Given the description of an element on the screen output the (x, y) to click on. 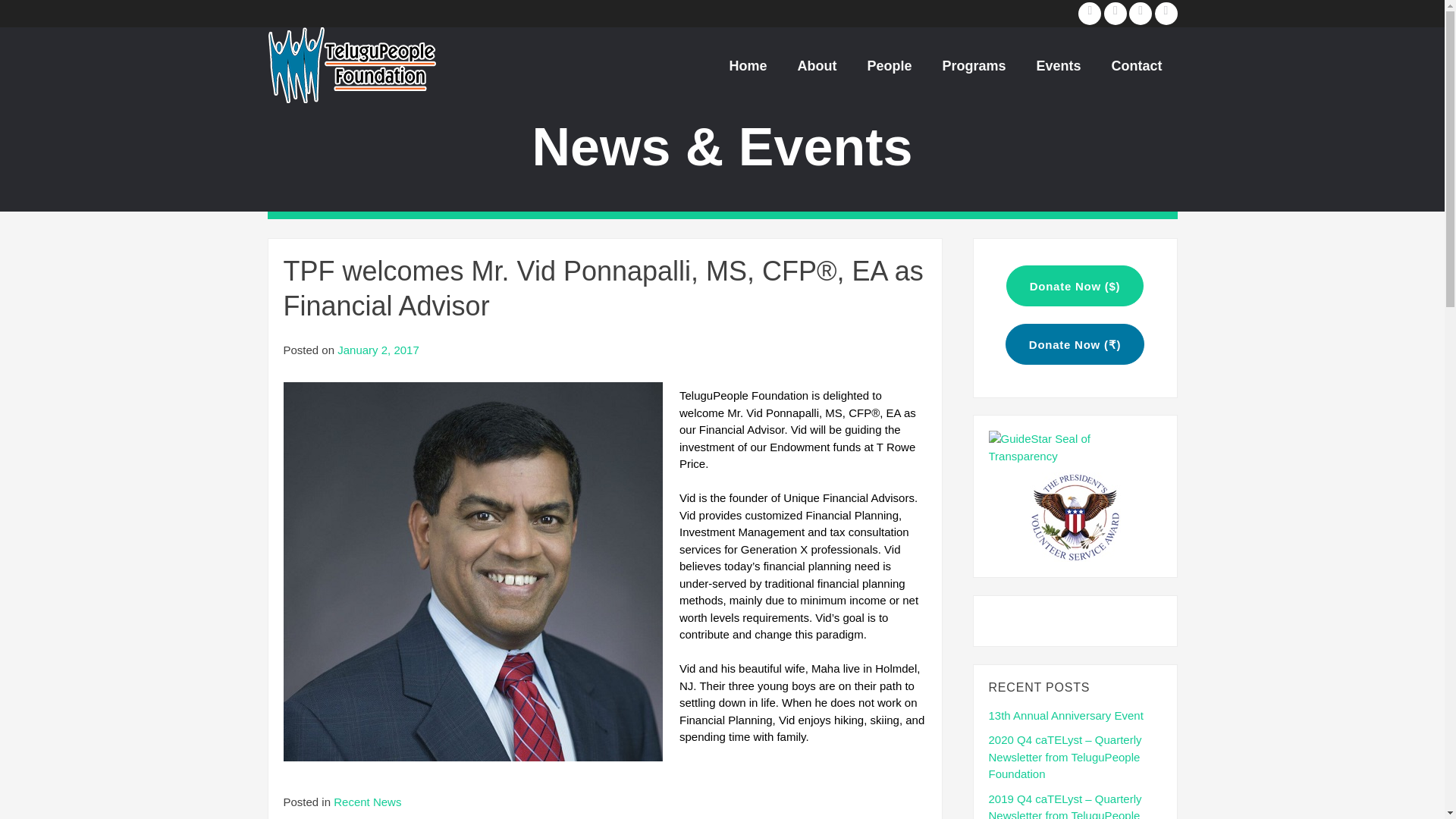
TeluguPeople Foundation (350, 63)
People (888, 65)
Home (747, 65)
Events (1058, 65)
Programs (973, 65)
Contact (1136, 65)
About (816, 65)
January 2, 2017 (378, 349)
